Given the description of an element on the screen output the (x, y) to click on. 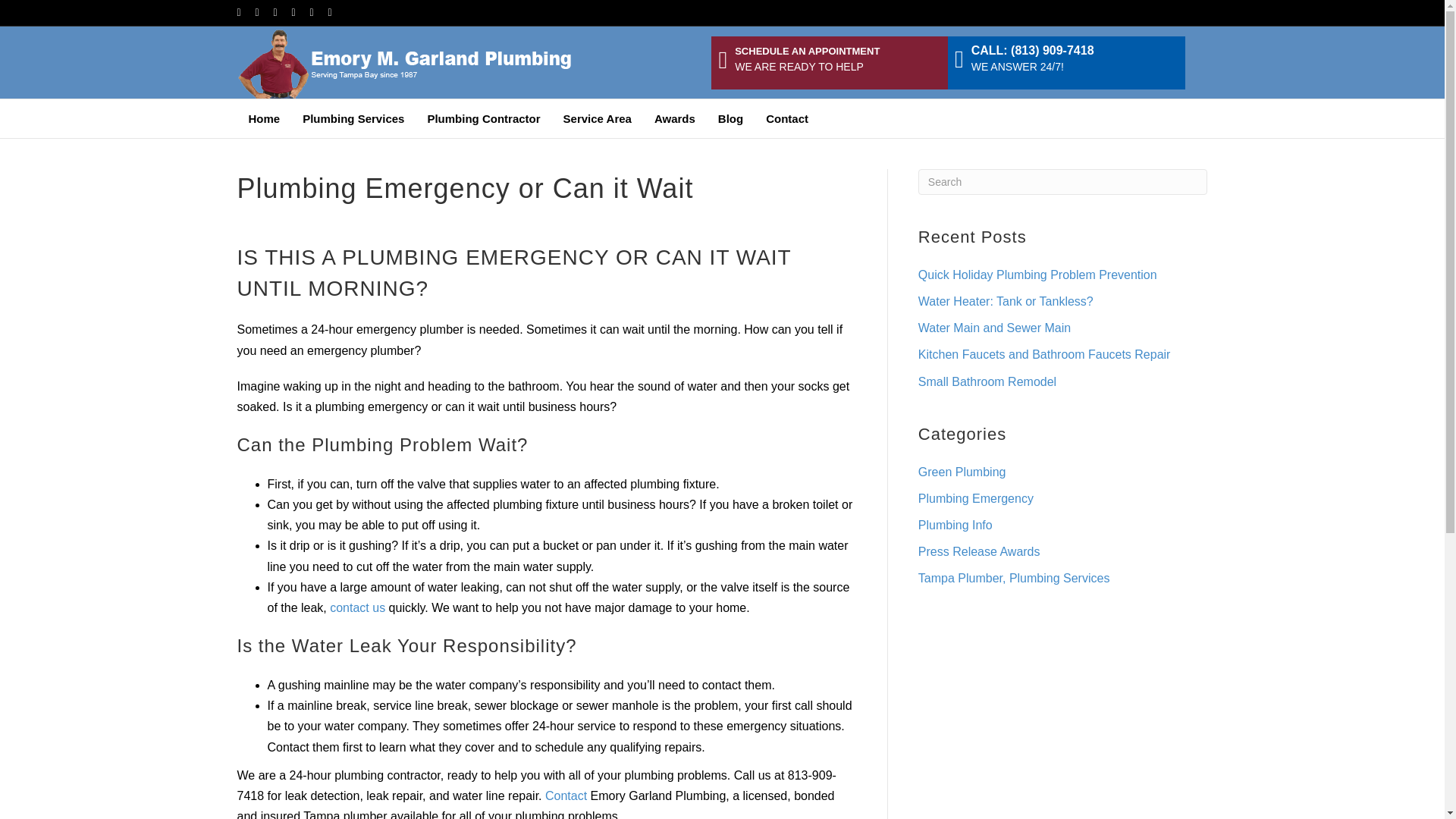
contact us (357, 607)
Contact (786, 118)
Facebook (244, 11)
Plumbing Contractor (482, 118)
Linkedin (299, 11)
Service Area (597, 118)
Google (282, 11)
Pinterest (317, 11)
Contact Emory Garland Plumbing (357, 607)
Awards (674, 118)
